Given the description of an element on the screen output the (x, y) to click on. 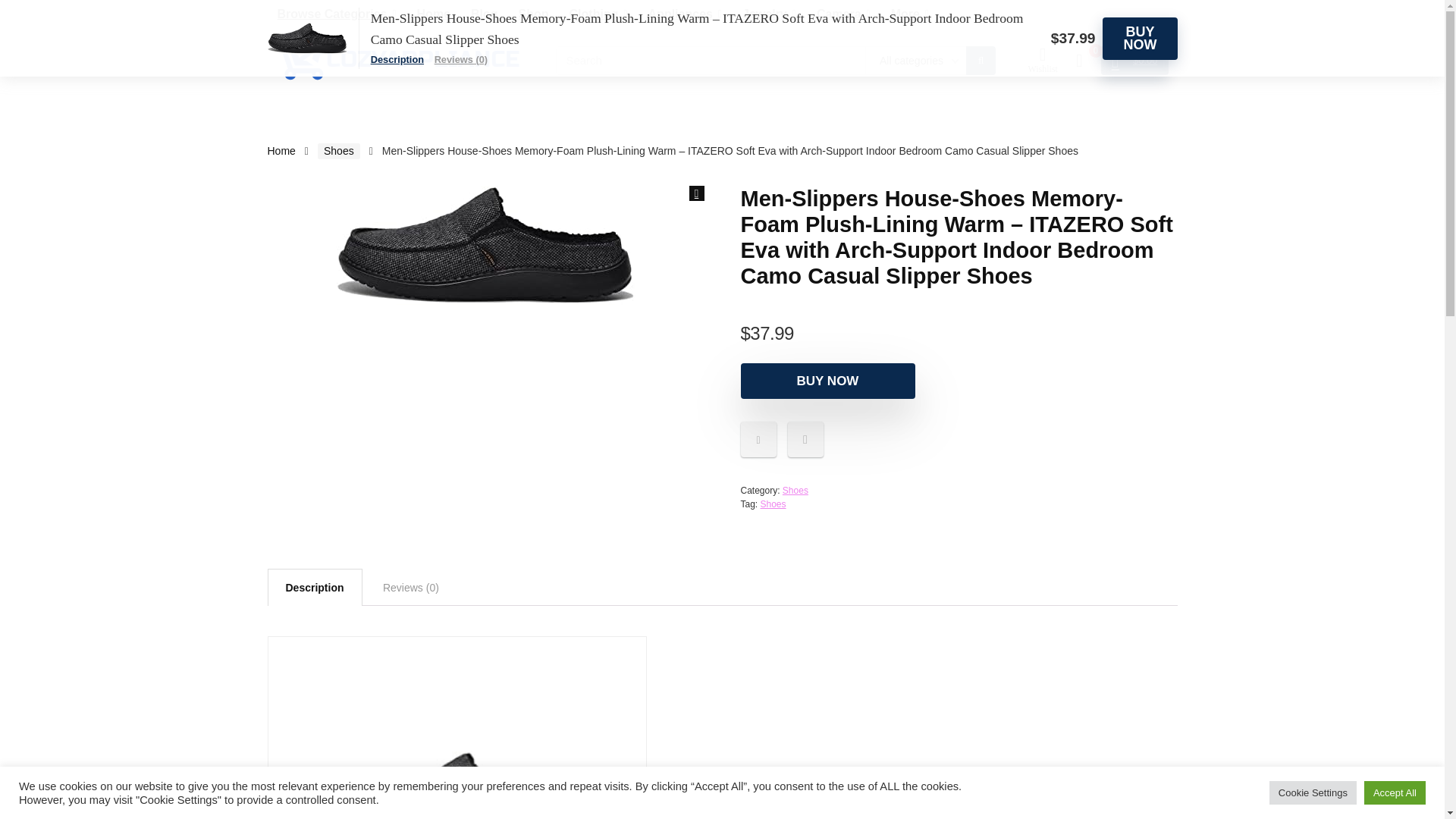
Home (433, 14)
Browse Categories (336, 7)
Blog (484, 14)
